Given the description of an element on the screen output the (x, y) to click on. 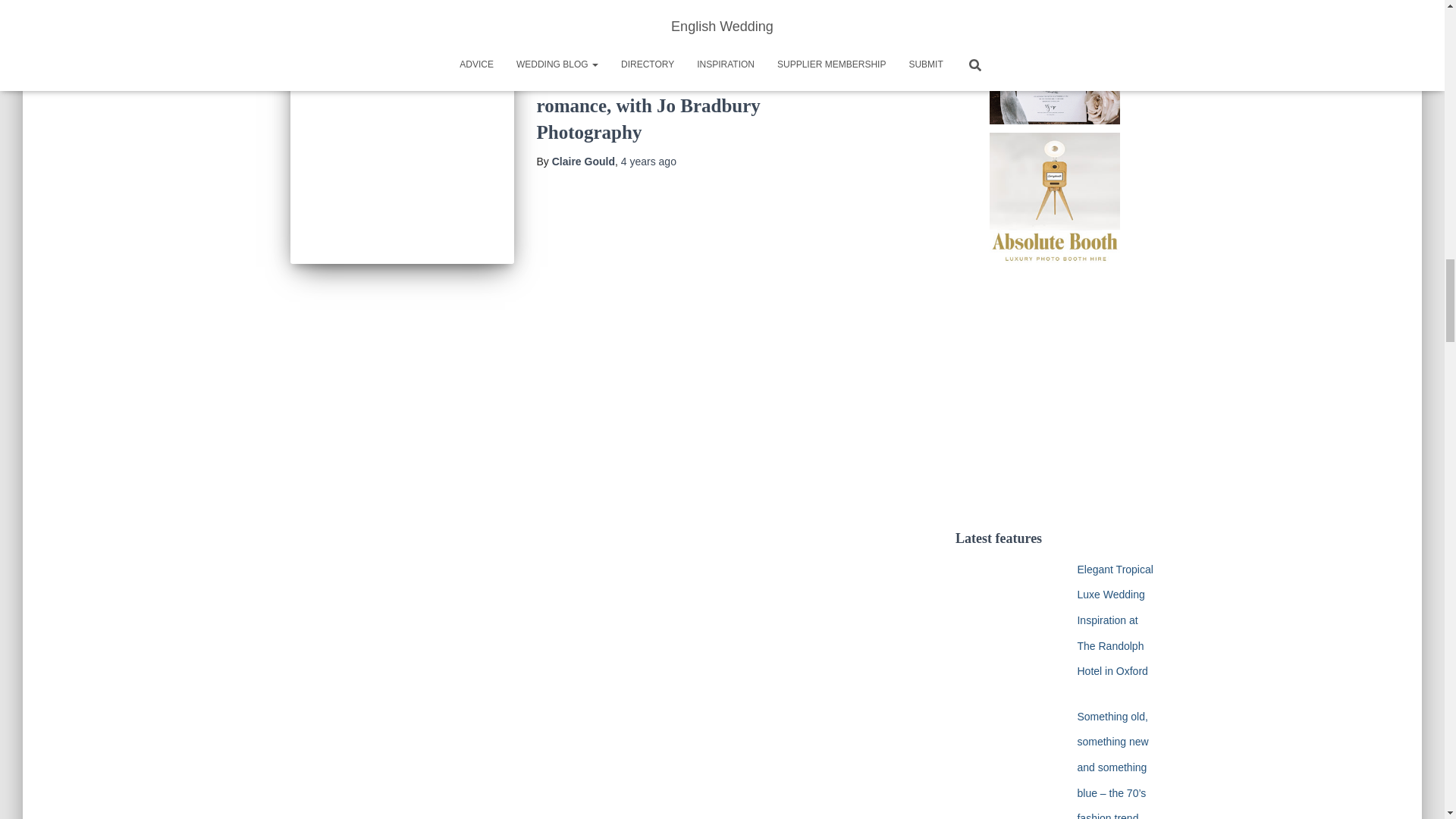
WEDDING BLOG (572, 54)
See more... (325, 3)
4 years ago (649, 161)
Claire Gould (582, 161)
